Given the description of an element on the screen output the (x, y) to click on. 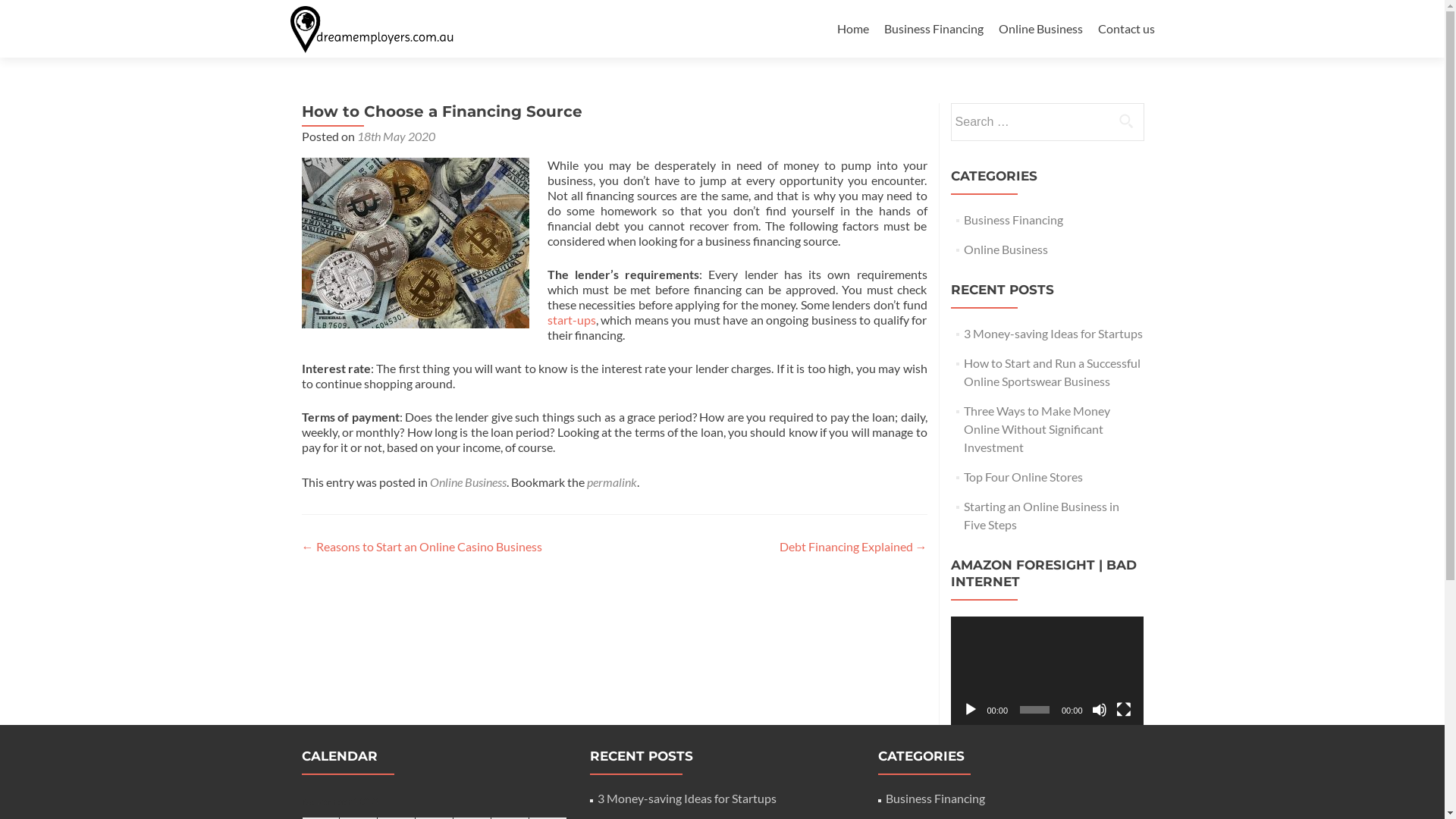
18th May 2020 Element type: text (395, 135)
3 Money-saving Ideas for Startups Element type: text (686, 797)
permalink Element type: text (611, 481)
Online Business Element type: text (1005, 248)
Top Four Online Stores Element type: text (1022, 476)
Starting an Online Business in Five Steps Element type: text (1041, 514)
Business Financing Element type: text (935, 797)
Business Financing Element type: text (933, 28)
Online Business Element type: text (467, 481)
Online Business Element type: text (1039, 28)
Play Element type: hover (970, 709)
How to Start and Run a Successful Online Sportswear Business Element type: text (1051, 371)
start-ups Element type: text (571, 319)
Mute Element type: hover (1099, 709)
Search Element type: text (1125, 120)
Business Financing Element type: text (1013, 219)
Home Element type: text (853, 28)
Skip to content Element type: text (876, 9)
Fullscreen Element type: hover (1123, 709)
Contact us Element type: text (1126, 28)
3 Money-saving Ideas for Startups Element type: text (1052, 333)
